Given the description of an element on the screen output the (x, y) to click on. 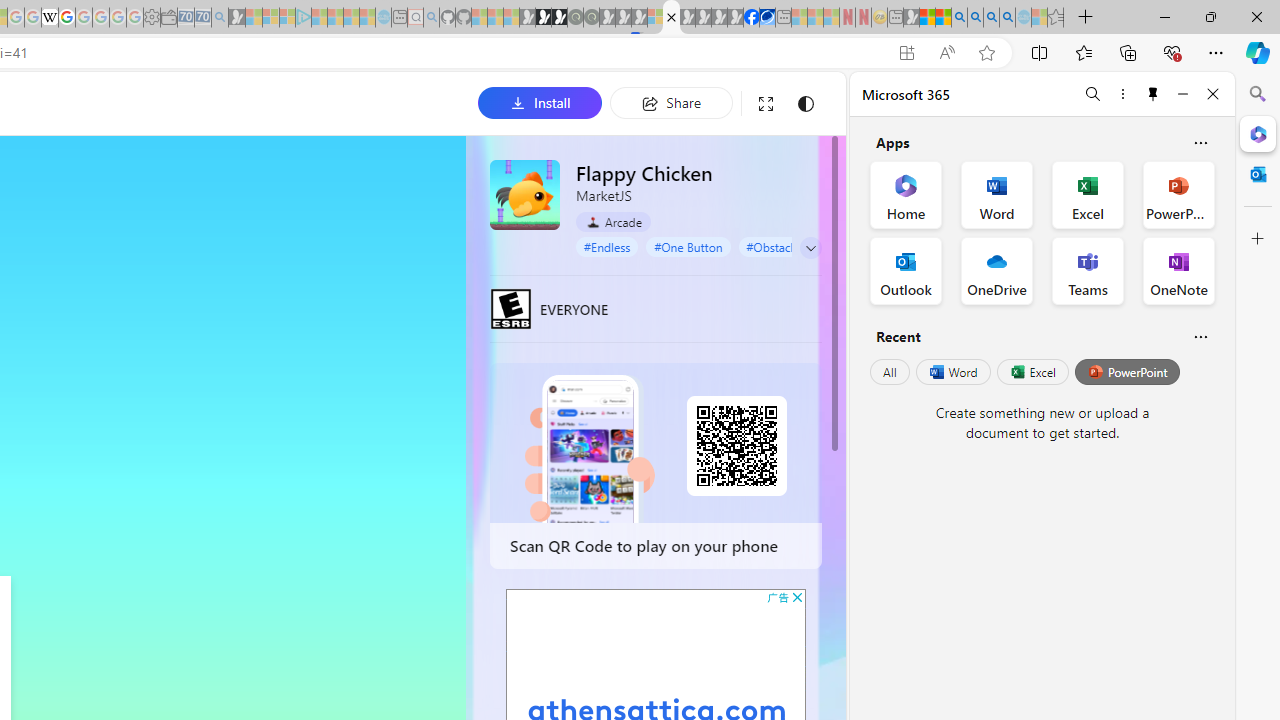
Bing AI - Search (959, 17)
Share (671, 102)
Outlook Office App (906, 270)
Class: control (811, 248)
Class: expand-arrow neutral (810, 247)
Unpin side pane (1153, 93)
